Given the description of an element on the screen output the (x, y) to click on. 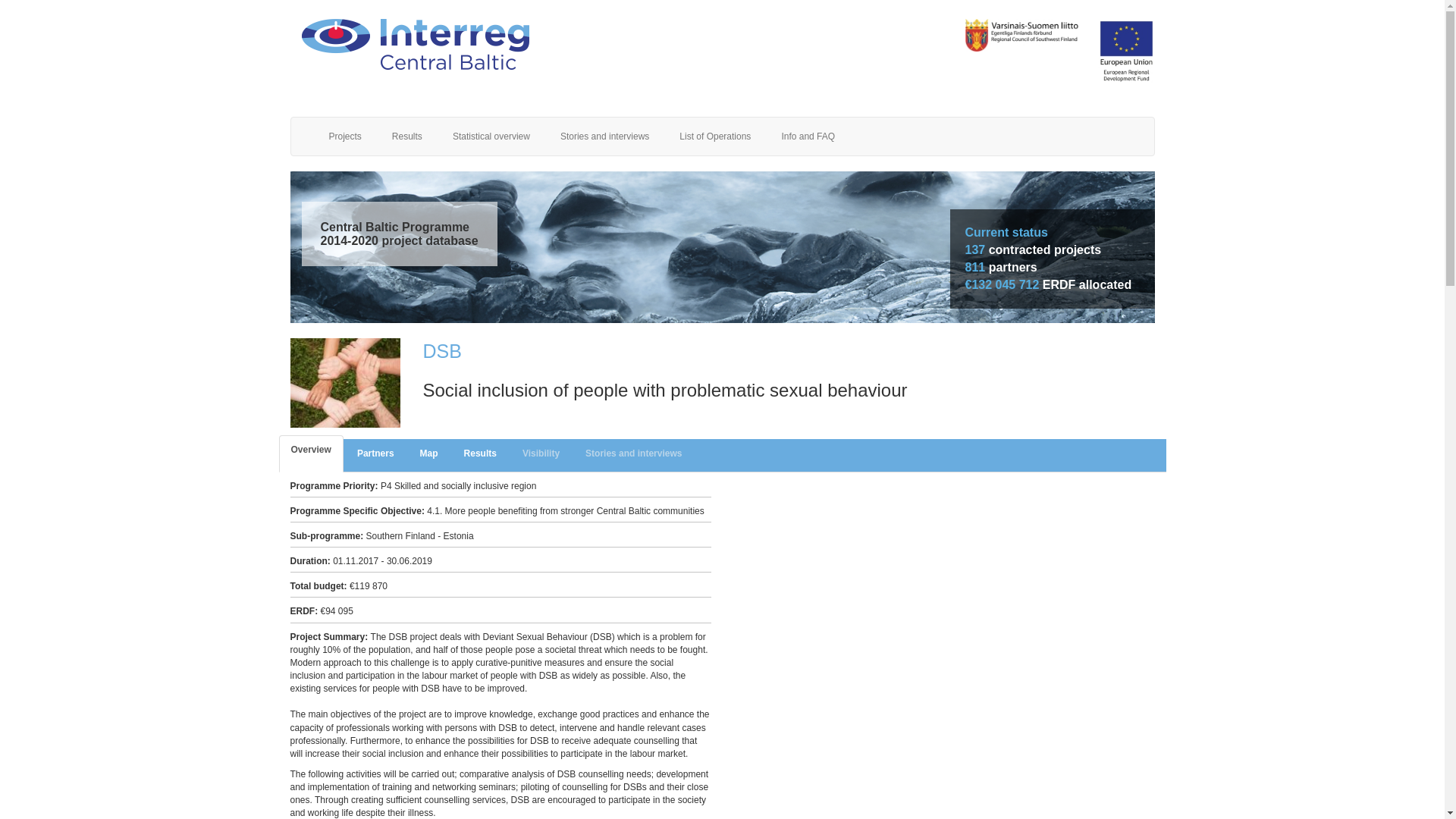
Statistical overview (491, 136)
Projects (345, 136)
Stories and interviews (633, 453)
Results (407, 136)
Info and FAQ (807, 136)
Visibility (541, 453)
List of Operations (714, 136)
Stories and interviews (603, 136)
Results (479, 453)
Overview (311, 453)
